Given the description of an element on the screen output the (x, y) to click on. 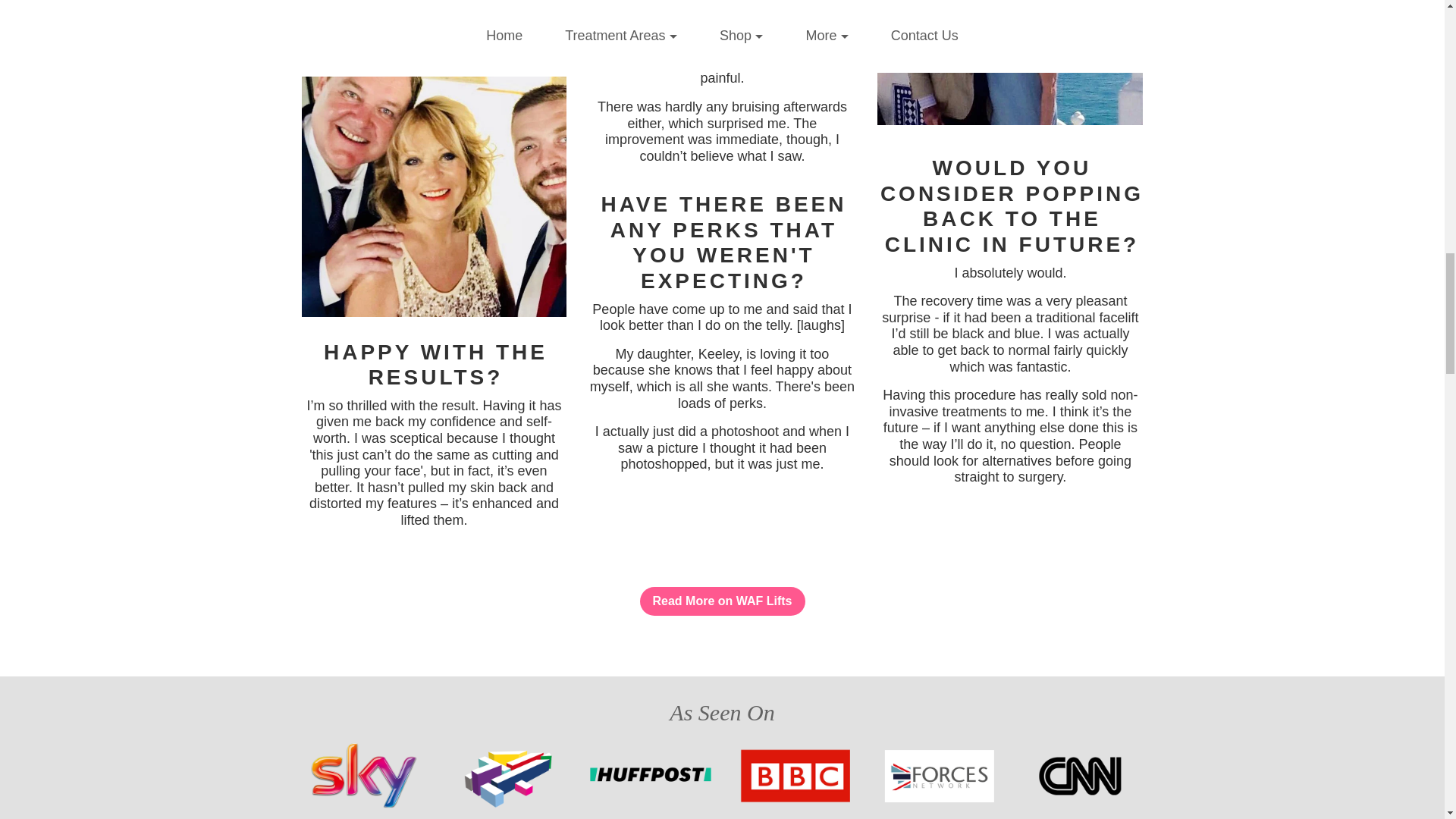
Huffington Post (650, 778)
Read More on WAF Lifts (722, 630)
Sky Tv (362, 778)
Sherrie Hewson Are You Being Served (434, 196)
Channel 4 (506, 778)
Forces TV (937, 778)
Read More on WAF Lifts (722, 601)
CNN (1082, 778)
Sherrie Hewson Benidorm (1009, 63)
The BBC (794, 778)
